Given the description of an element on the screen output the (x, y) to click on. 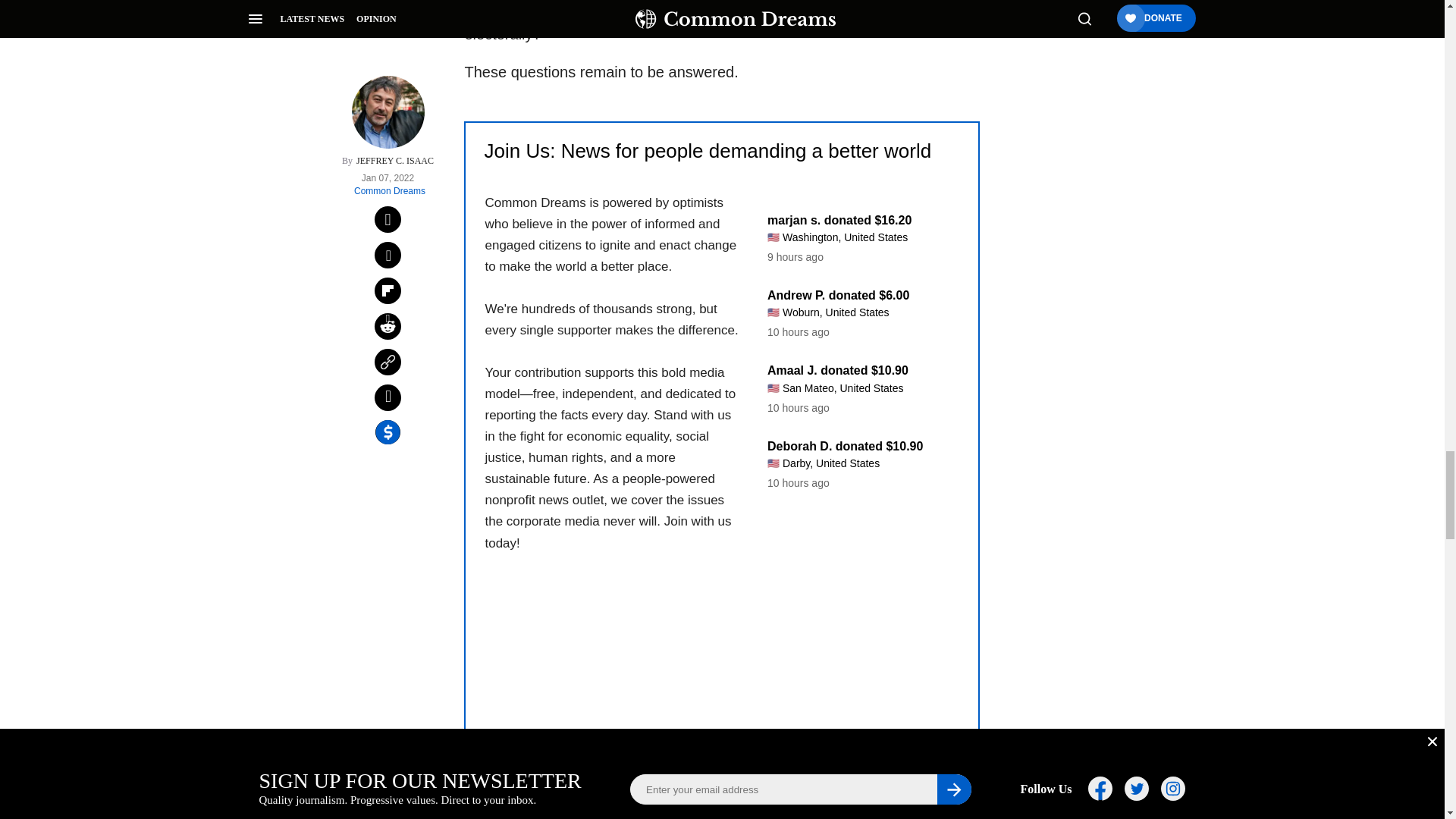
Donate Button Group (721, 757)
